Given the description of an element on the screen output the (x, y) to click on. 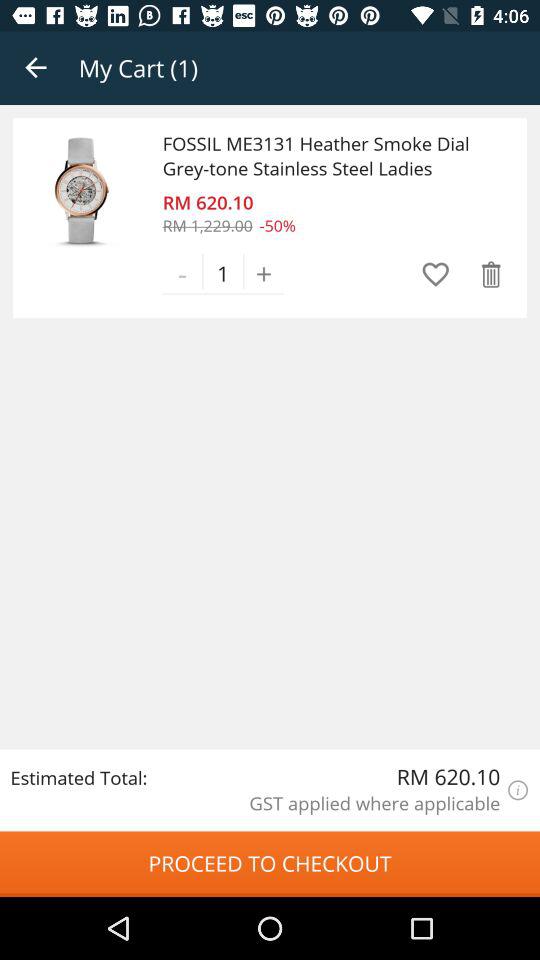
select the app to the left of the my cart (1) icon (36, 68)
